Given the description of an element on the screen output the (x, y) to click on. 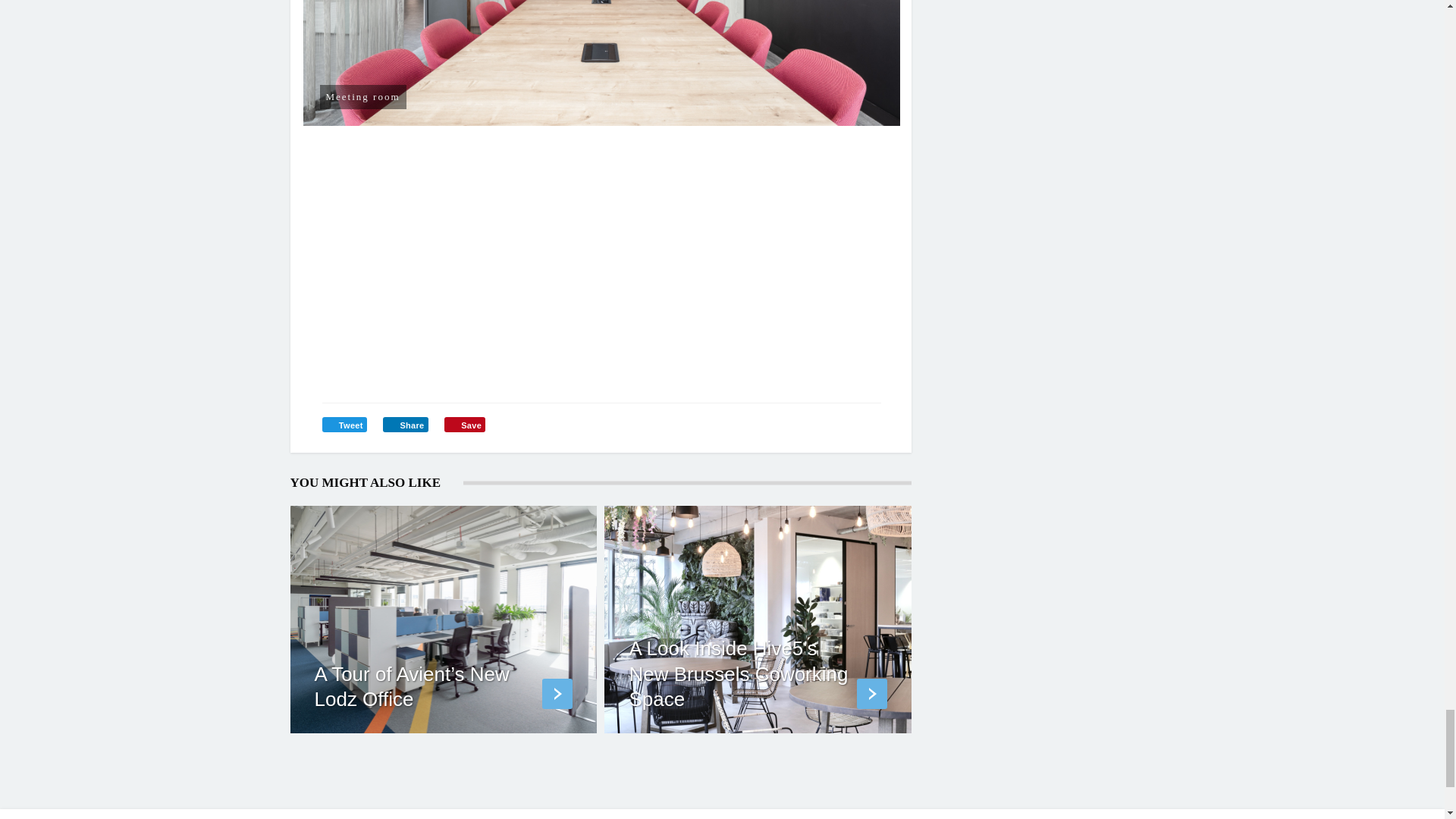
Share link on Twitter (343, 424)
Meeting room (601, 62)
